Given the description of an element on the screen output the (x, y) to click on. 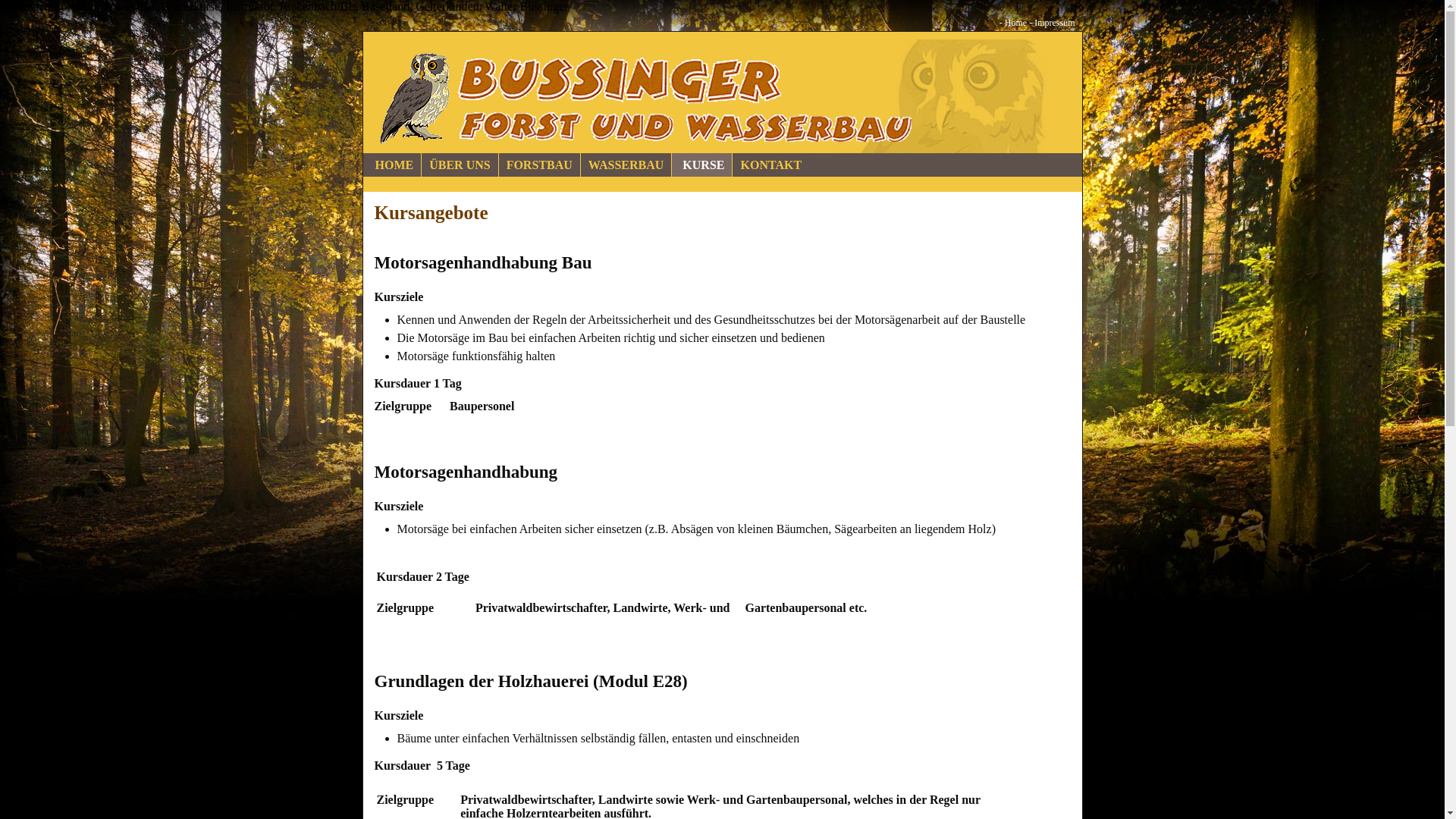
- Impressum Element type: text (1051, 22)
FORSTBAU Element type: text (539, 164)
- Home Element type: text (1012, 22)
KONTAKT Element type: text (770, 164)
 KURSE Element type: text (701, 164)
WASSERBAU Element type: text (626, 164)
HOME Element type: text (394, 164)
